Given the description of an element on the screen output the (x, y) to click on. 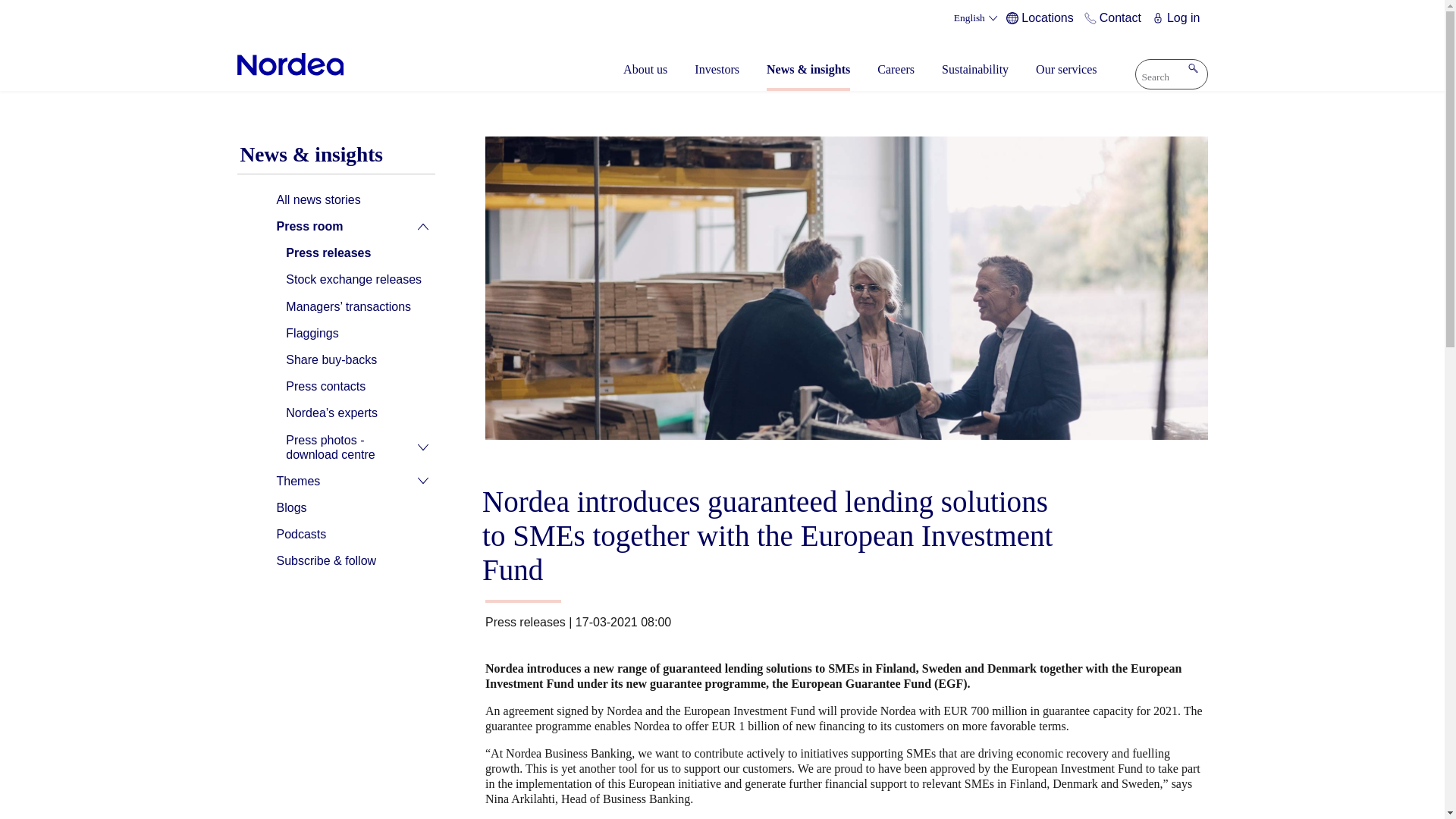
English (977, 18)
Nordea (289, 64)
Contact (1114, 18)
Skip to main content (721, 1)
Locations (1042, 18)
Log in (1178, 18)
